Given the description of an element on the screen output the (x, y) to click on. 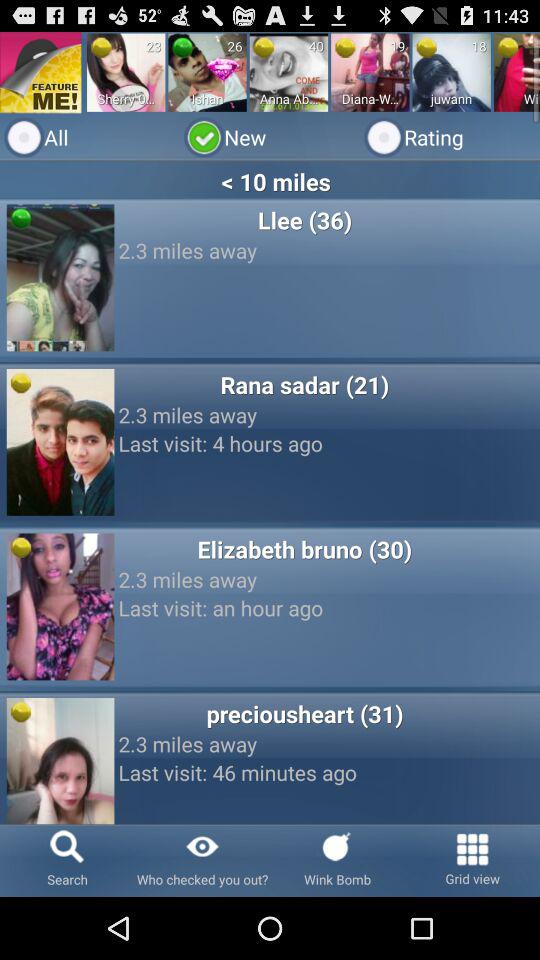
select icon to the left of 23 app (101, 47)
